Given the description of an element on the screen output the (x, y) to click on. 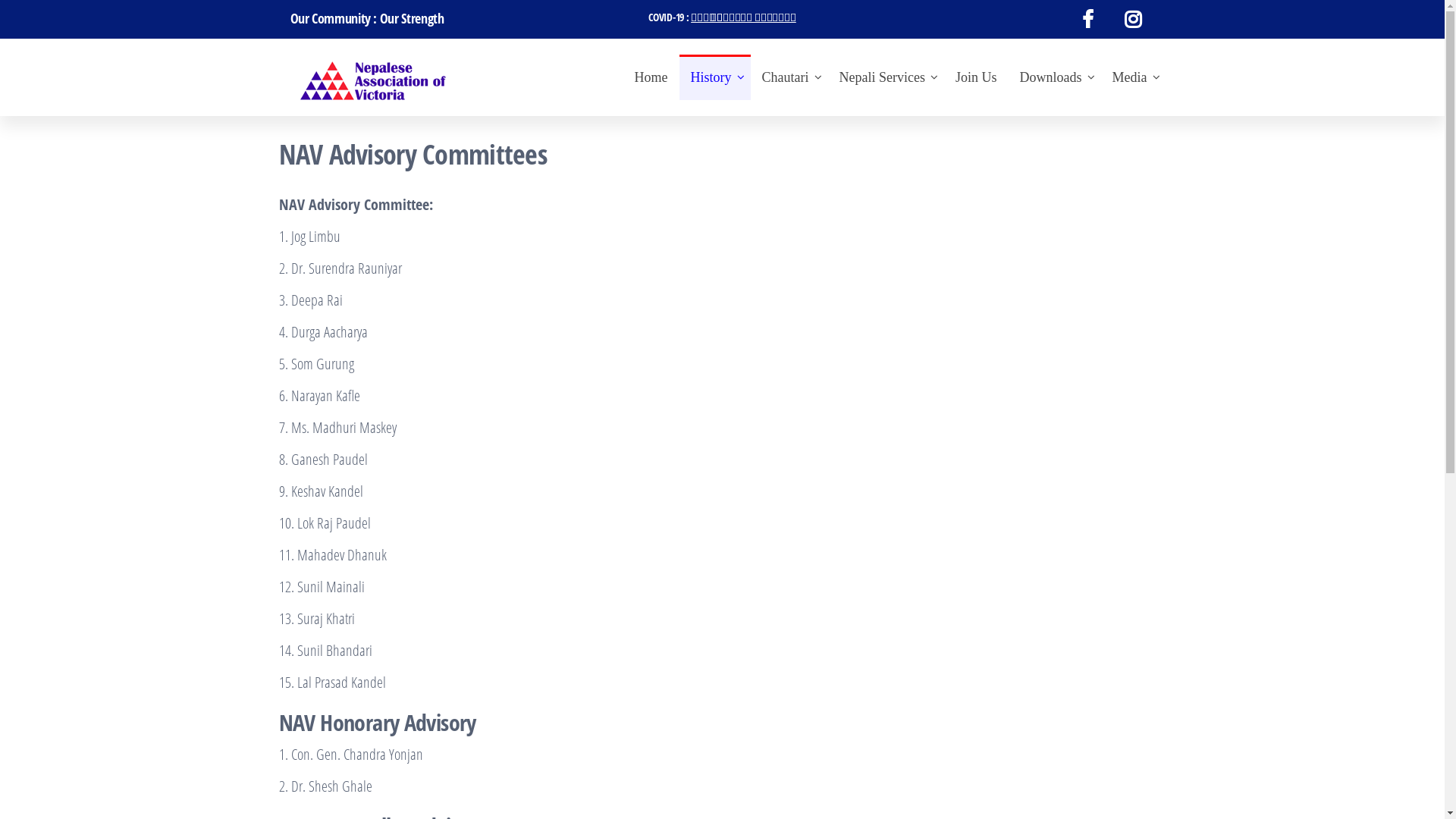
Join Us Element type: text (976, 77)
Nepali Services Element type: text (886, 77)
Downloads Element type: text (1054, 77)
History Element type: text (714, 77)
Chautari Element type: text (789, 77)
Home Element type: text (651, 77)
Media Element type: text (1133, 77)
